Given the description of an element on the screen output the (x, y) to click on. 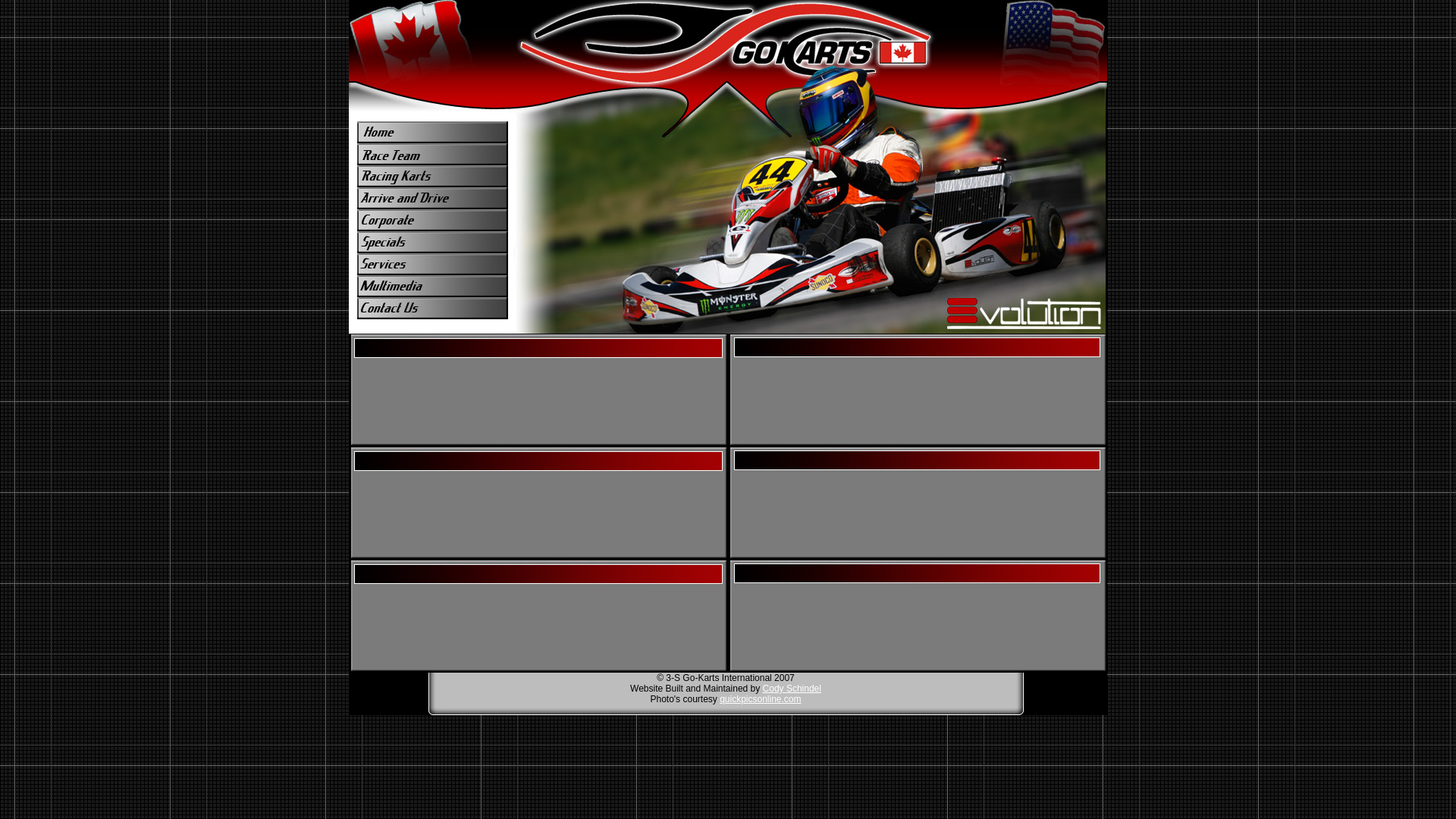
quickpicsonline.com Element type: text (759, 698)
Cody Schindel Element type: text (791, 688)
